Given the description of an element on the screen output the (x, y) to click on. 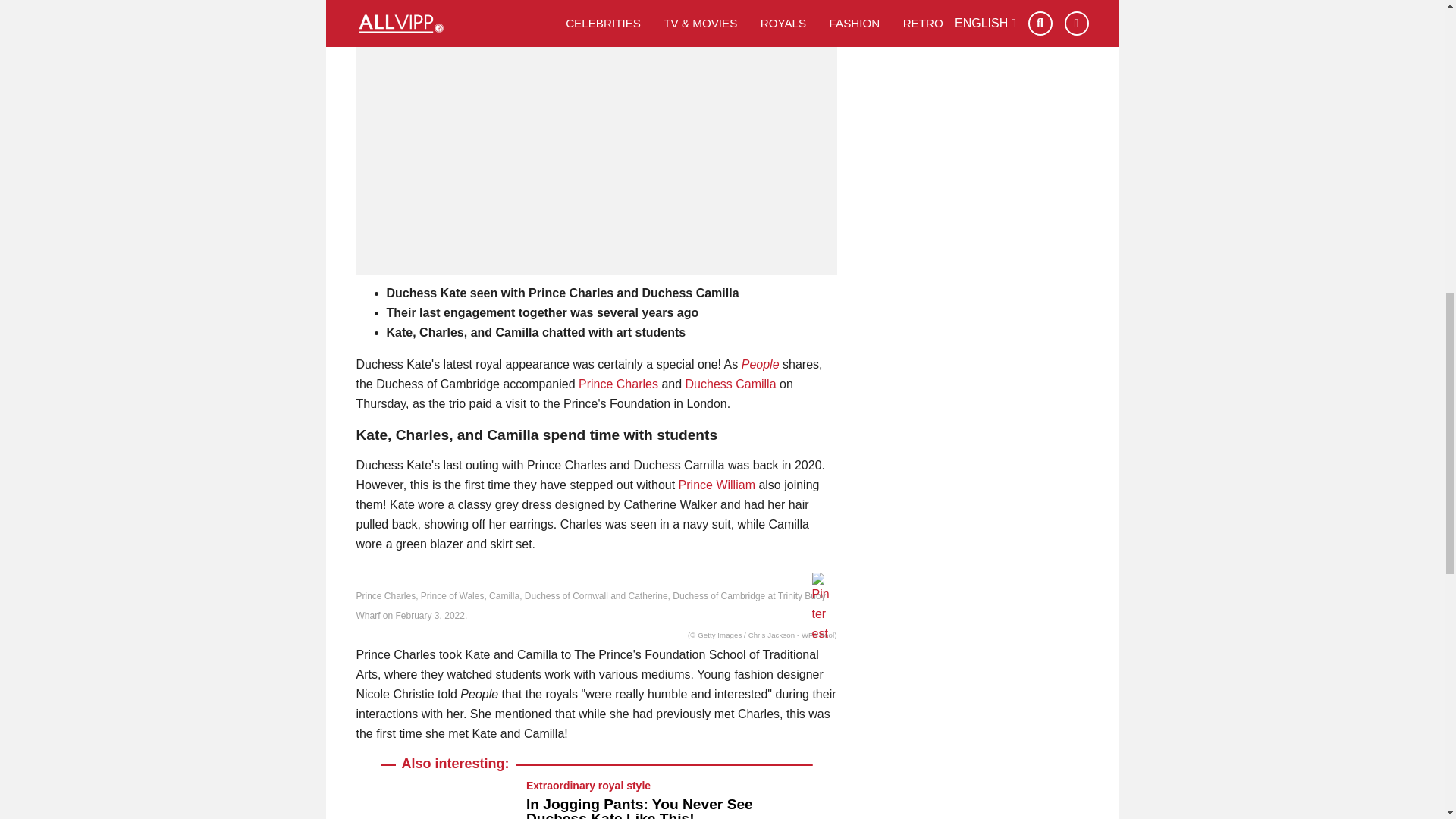
Prince William (716, 484)
People (759, 364)
Duchess Camilla (730, 383)
Prince Charles (618, 383)
In Jogging Pants: You Never See Duchess Kate Like This! (638, 807)
